Given the description of an element on the screen output the (x, y) to click on. 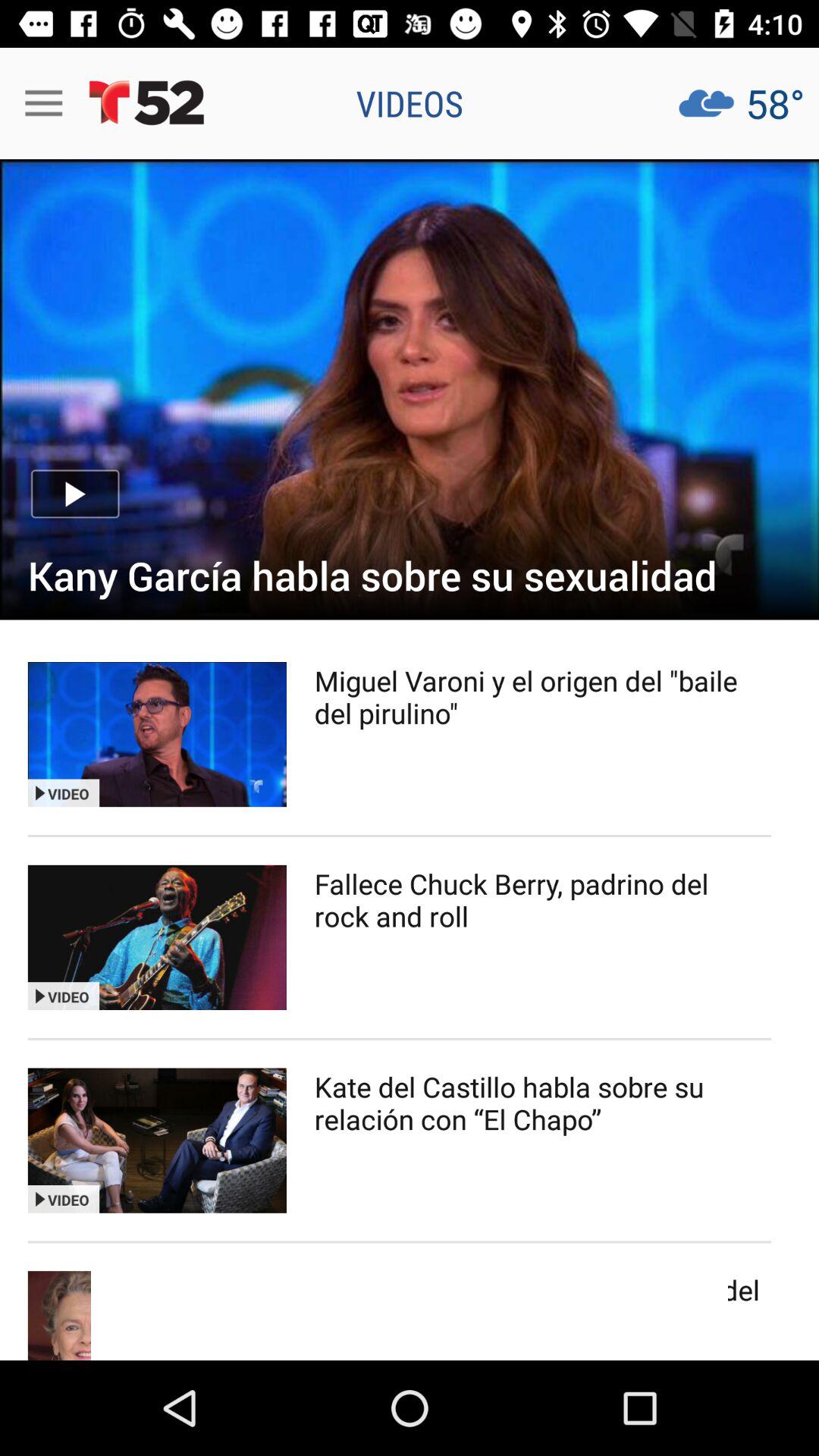
go to bottom left corner image (156, 1315)
